Given the description of an element on the screen output the (x, y) to click on. 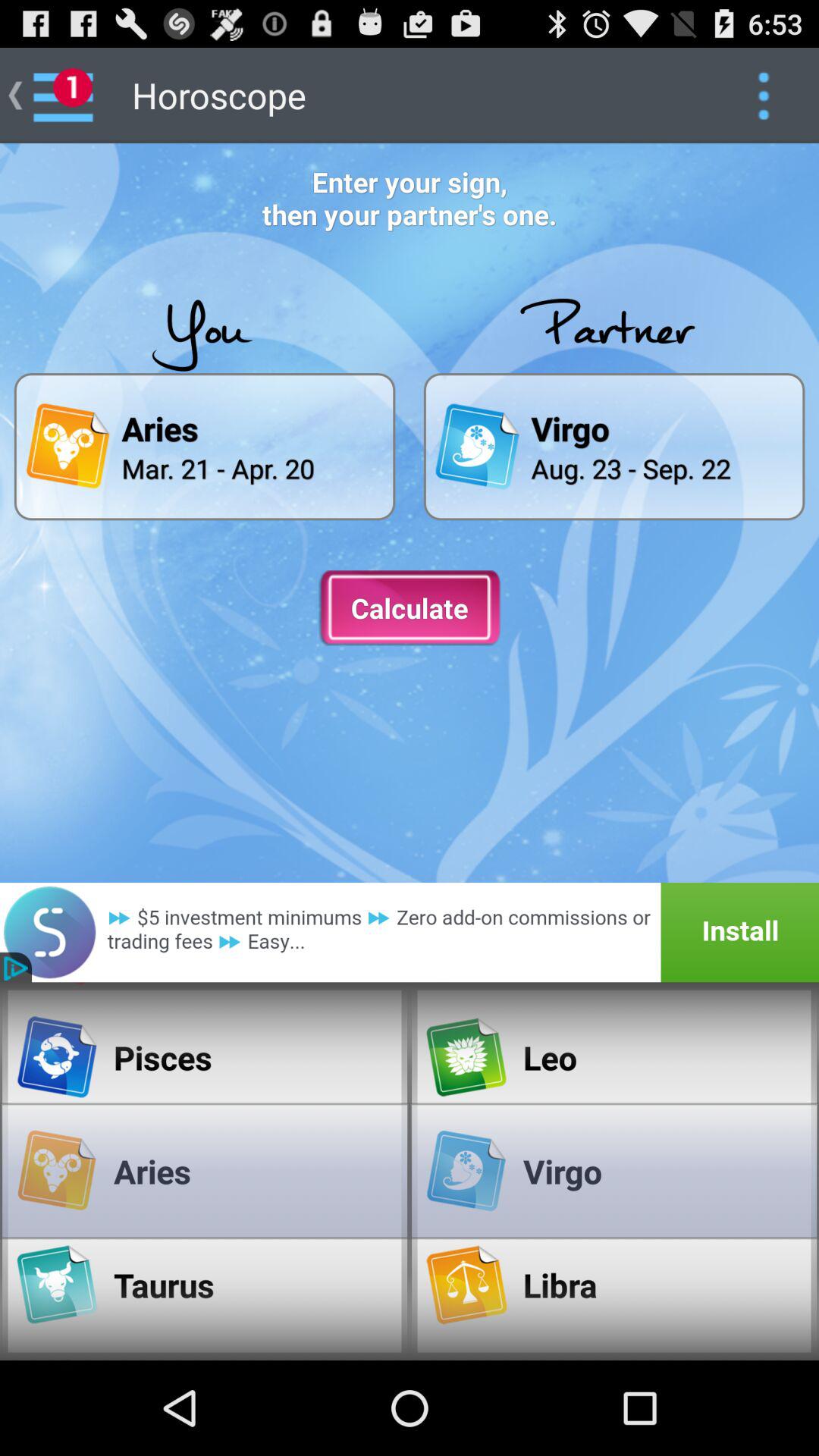
calculate (409, 608)
